Given the description of an element on the screen output the (x, y) to click on. 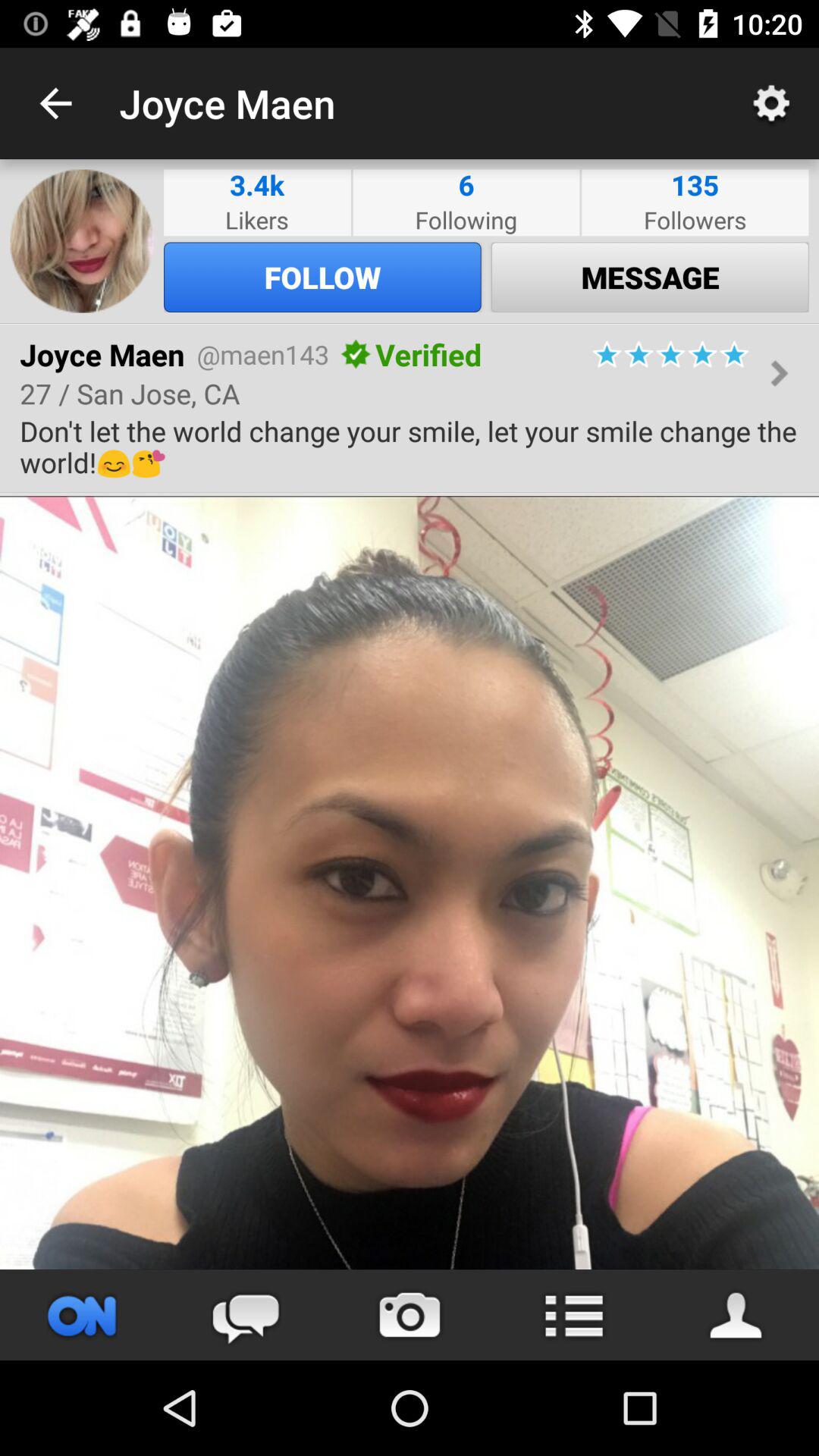
choose icon below 6 (466, 219)
